Given the description of an element on the screen output the (x, y) to click on. 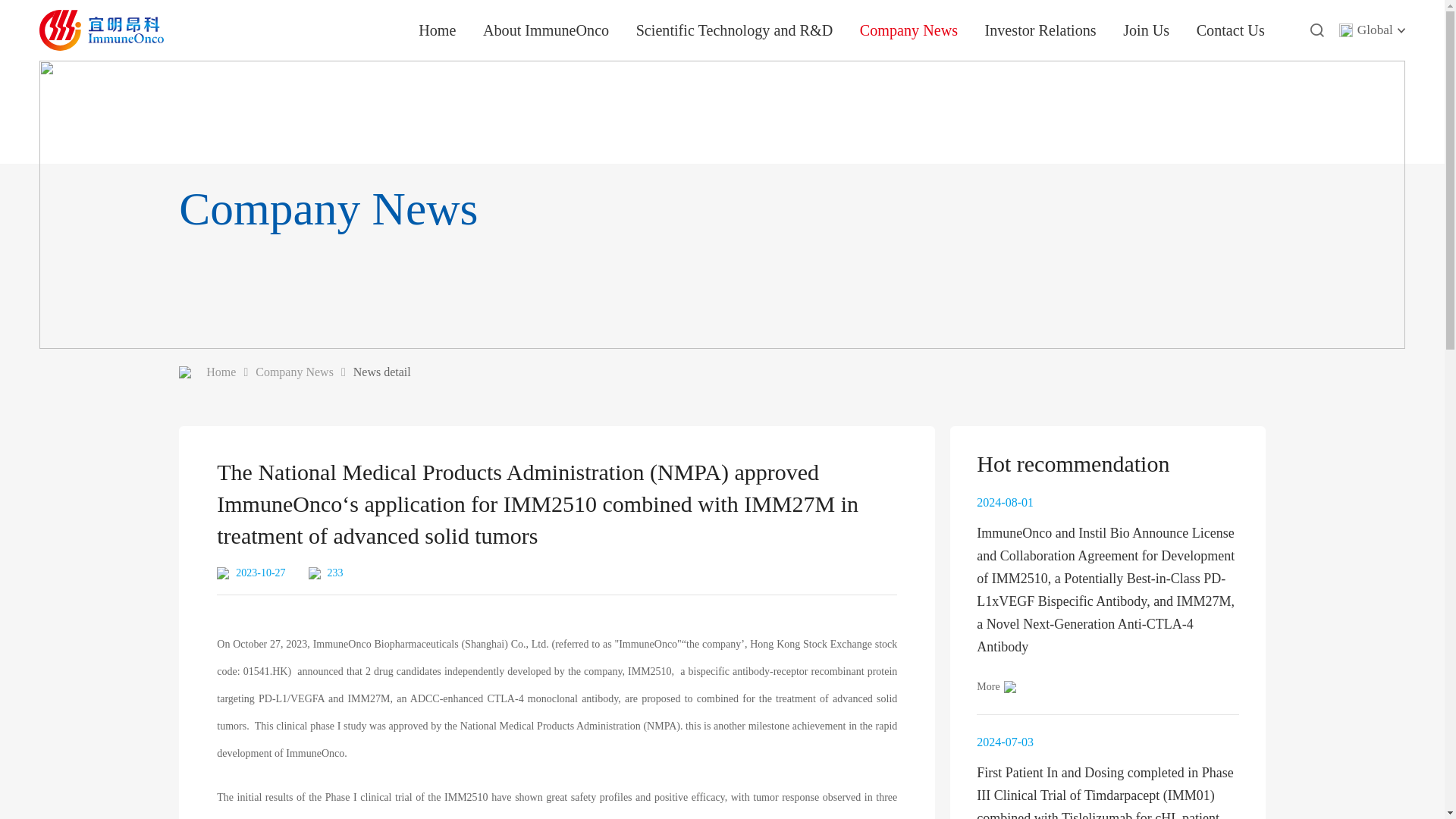
Join Us (1145, 29)
Contact Us (1230, 29)
About ImmuneOnco (545, 29)
Home (437, 29)
Investor Relations (1040, 29)
Company News (909, 29)
